Given the description of an element on the screen output the (x, y) to click on. 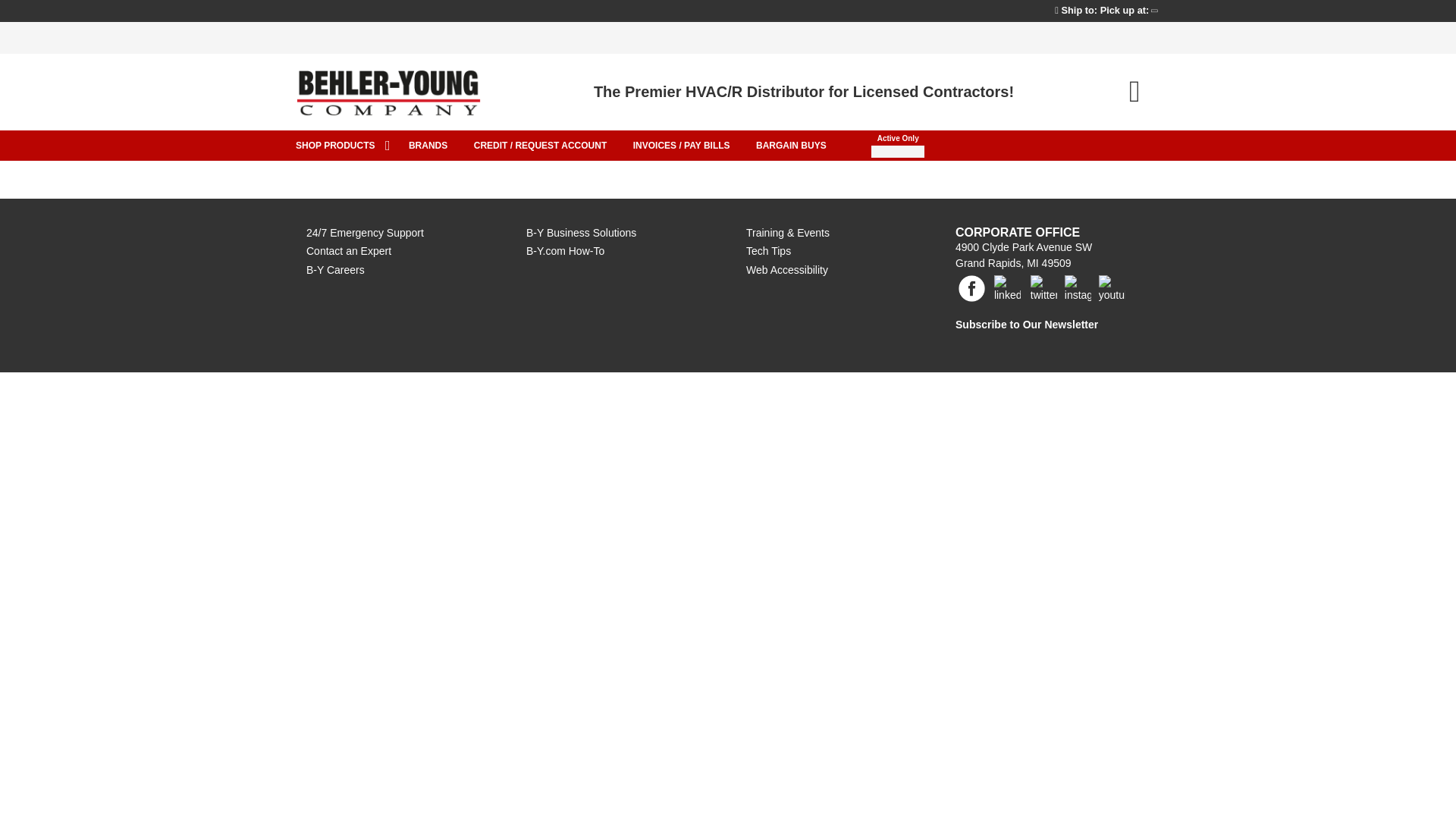
Tech Tips (767, 250)
on (1166, 135)
B-Y Business Solutions (580, 232)
B-Y Careers (335, 269)
on (1166, 135)
B-Y.com How-To (564, 250)
BARGAIN BUYS (791, 145)
Web Accessibility (786, 269)
Contact an Expert (348, 250)
on (1166, 26)
